Given the description of an element on the screen output the (x, y) to click on. 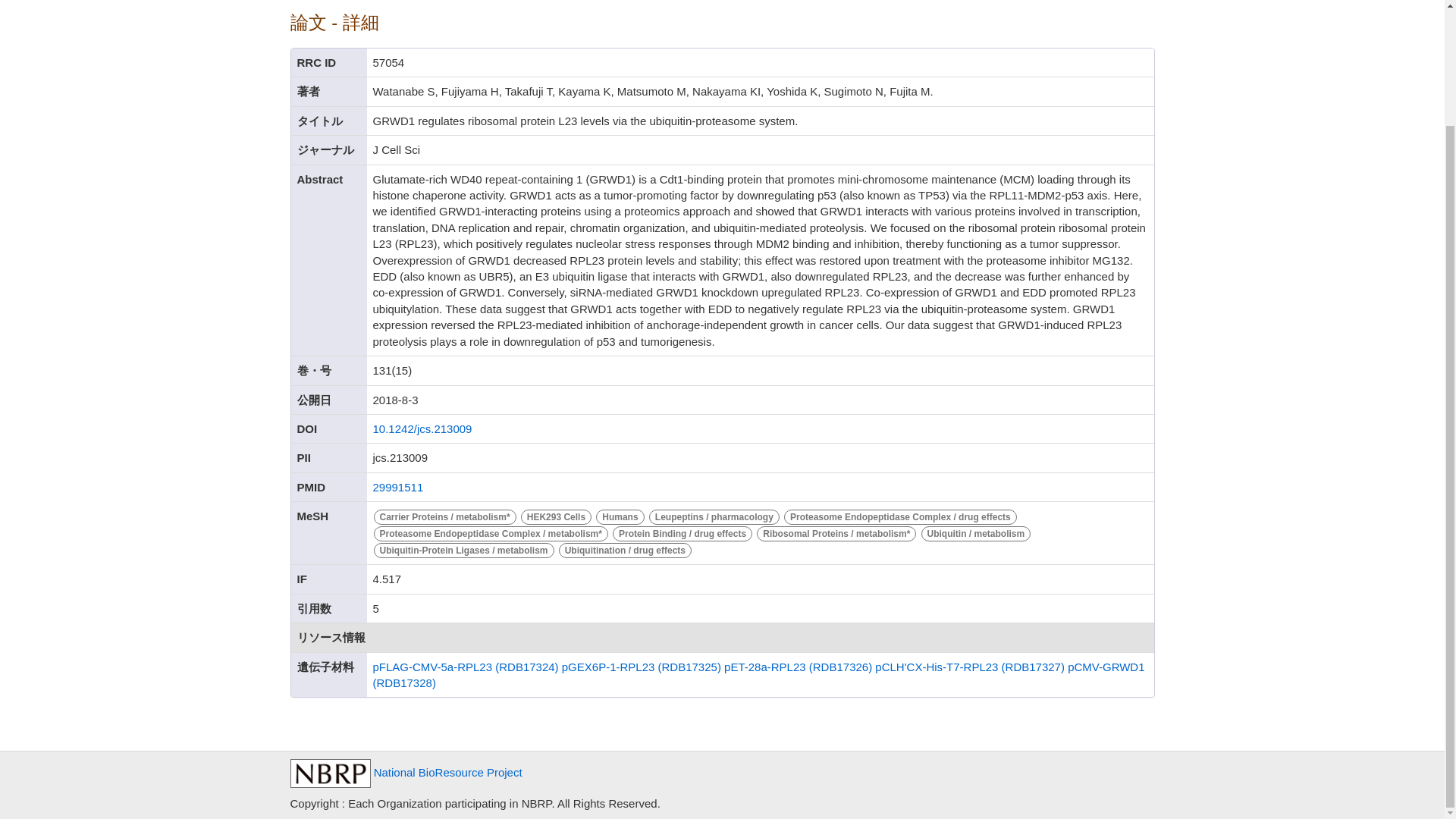
29991511 (397, 486)
Humans (621, 515)
HEK293 Cells (557, 515)
National BioResource Project (405, 771)
